Given the description of an element on the screen output the (x, y) to click on. 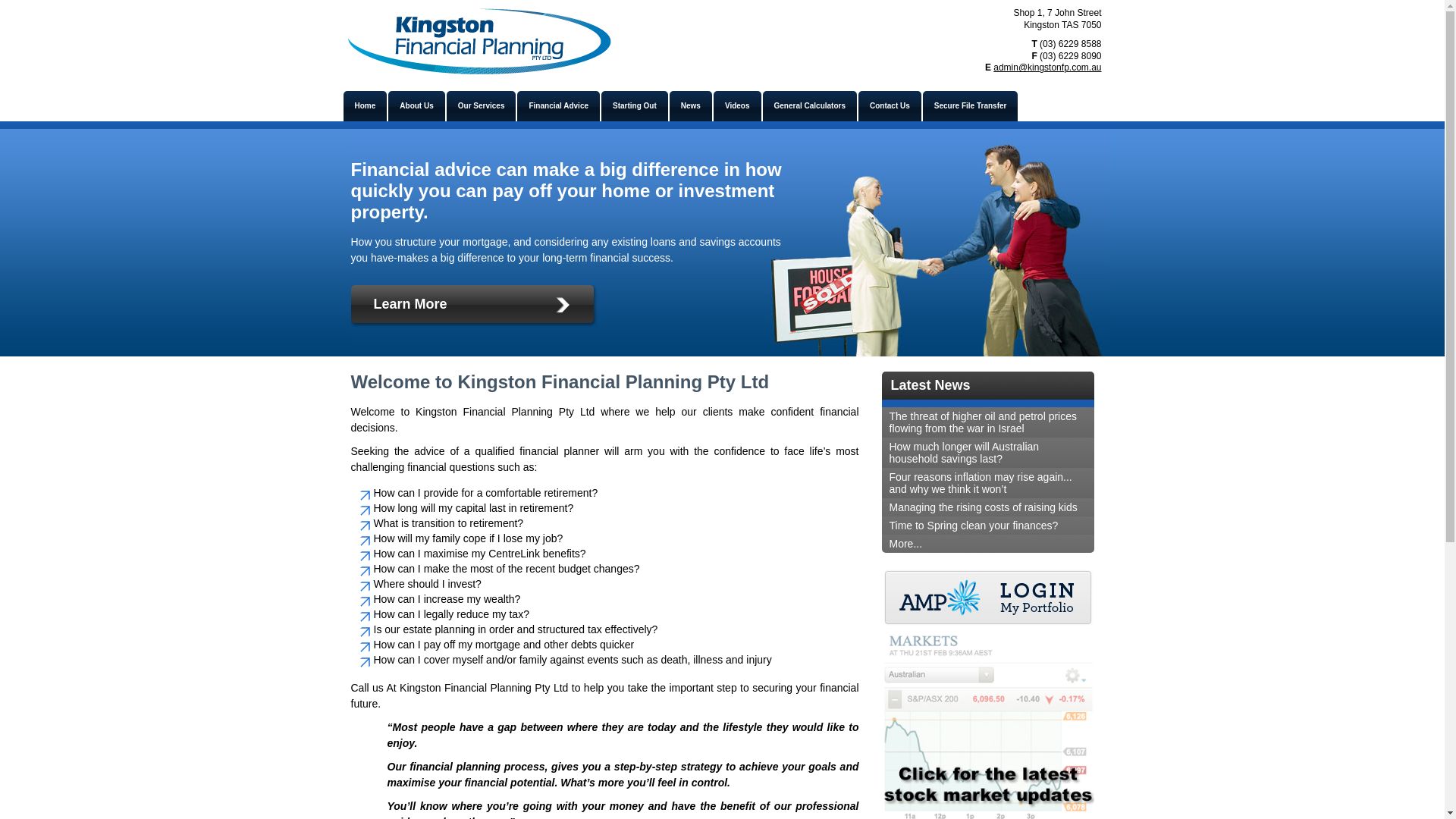
News Element type: text (690, 106)
About Us Element type: text (416, 106)
Our Services Element type: text (481, 106)
Login to AMP's My Portfolio Element type: text (987, 597)
How much longer will Australian household savings last? Element type: text (987, 452)
Managing the rising costs of raising kids Element type: text (987, 507)
Contact Us Element type: text (889, 106)
More... Element type: text (987, 543)
Videos Element type: text (737, 106)
Financial Advice Element type: text (558, 106)
Time to Spring clean your finances? Element type: text (987, 525)
admin@kingstonfp.com.au Element type: text (1047, 67)
General Calculators Element type: text (809, 106)
Secure File Transfer Element type: text (970, 106)
Home Element type: text (364, 106)
Learn More Element type: text (475, 307)
Starting Out Element type: text (634, 106)
